Given the description of an element on the screen output the (x, y) to click on. 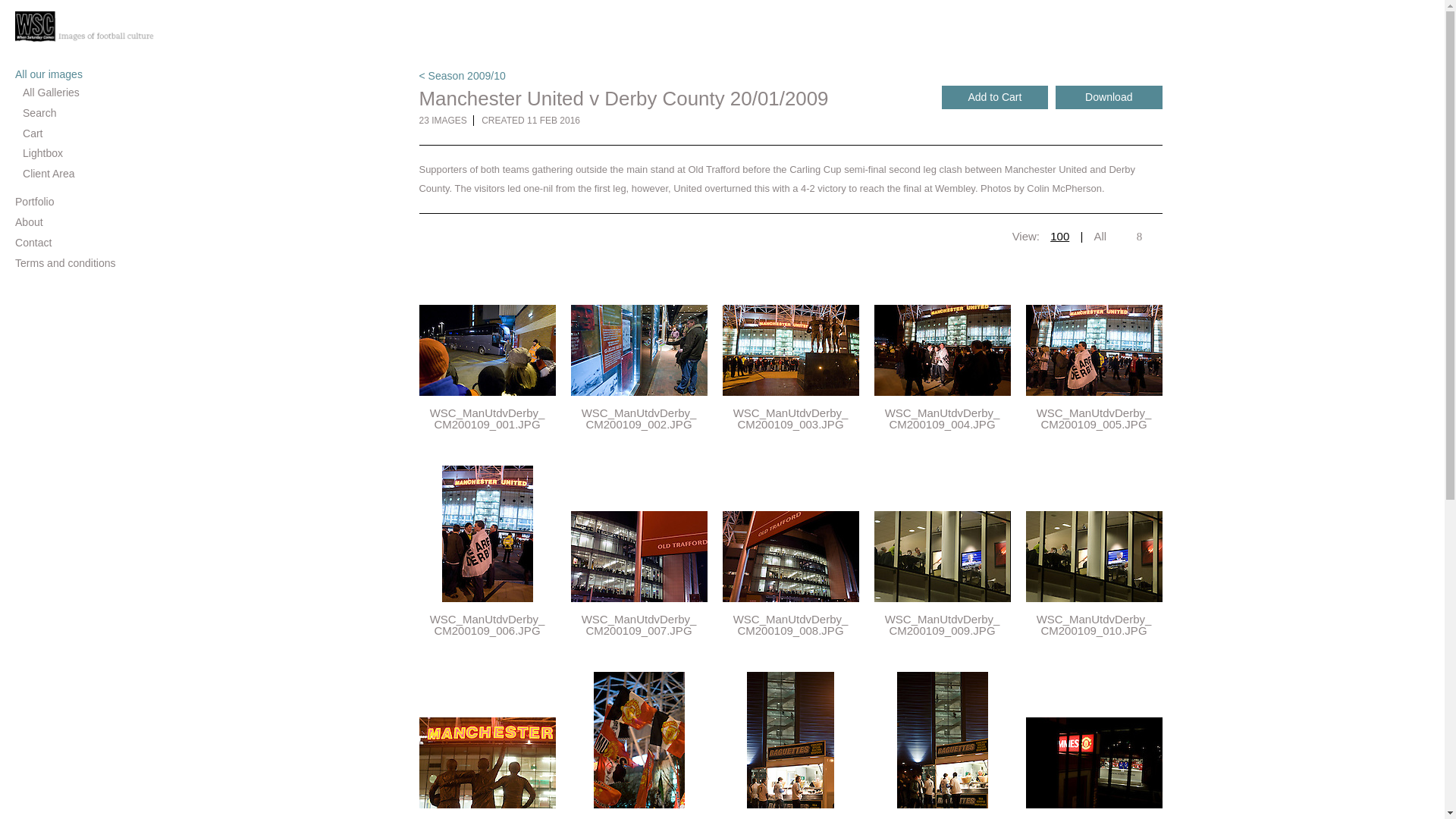
Lightbox (79, 153)
All (1099, 236)
x (1138, 236)
WSC Photos (91, 28)
Add to Cart (995, 96)
Cart (79, 133)
Contact (75, 242)
Terms and conditions (75, 263)
Search (79, 113)
WSC Photos (91, 28)
Client Area (79, 173)
About (75, 222)
Add to Cart (995, 96)
Share This (1138, 236)
All Galleries (79, 92)
